Given the description of an element on the screen output the (x, y) to click on. 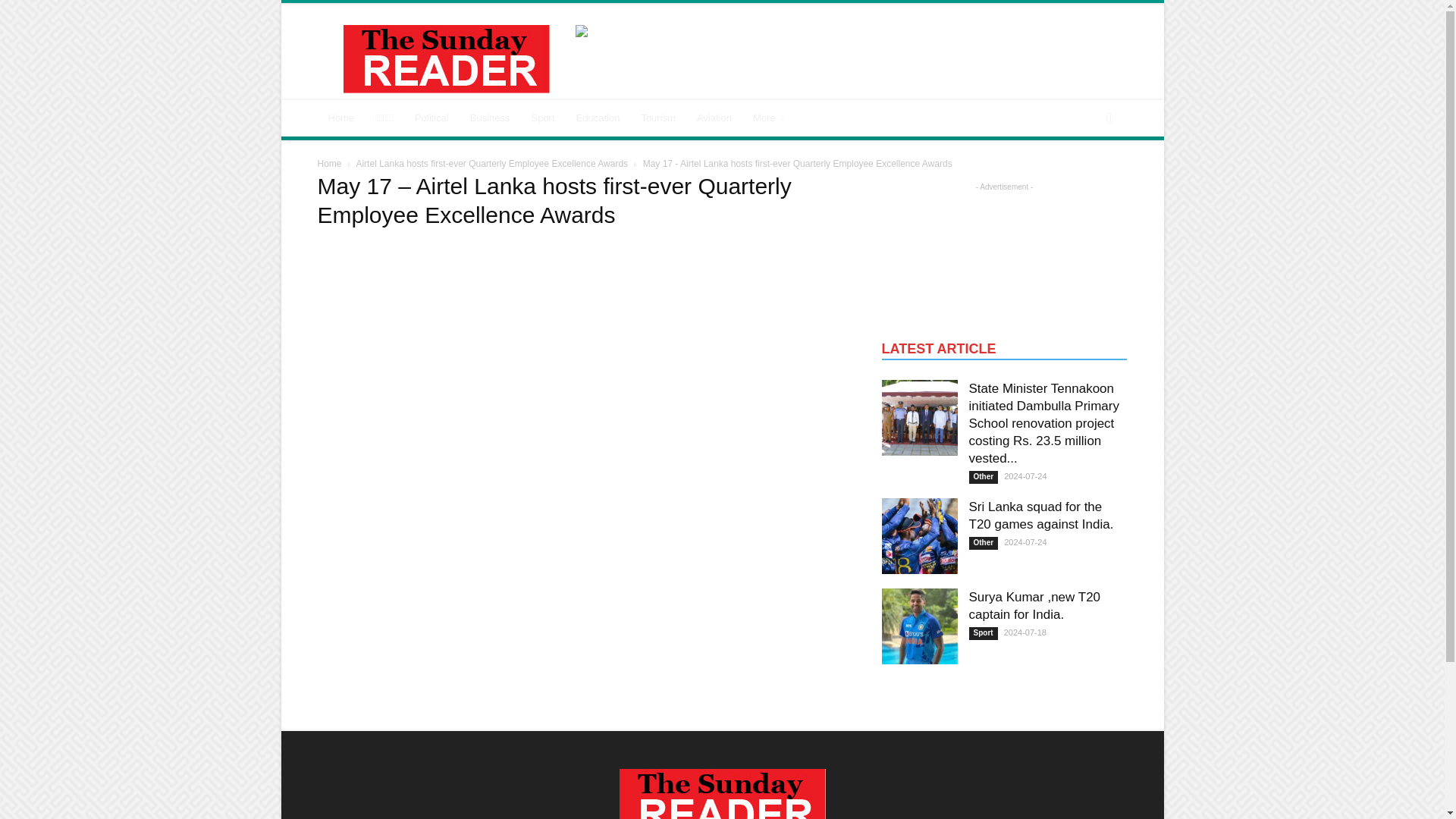
Business (490, 117)
Education (598, 117)
More (770, 117)
Home (341, 117)
Surya Kumar ,new T20 captain for India. (1034, 605)
Tourism (657, 117)
Sport (541, 117)
Sri Lanka squad for the T20 games against India. (1041, 515)
Surya Kumar ,new T20 captain for India. (918, 626)
Sri Lanka squad for the T20 games against India. (918, 535)
Aviation (713, 117)
Political (432, 117)
